Given the description of an element on the screen output the (x, y) to click on. 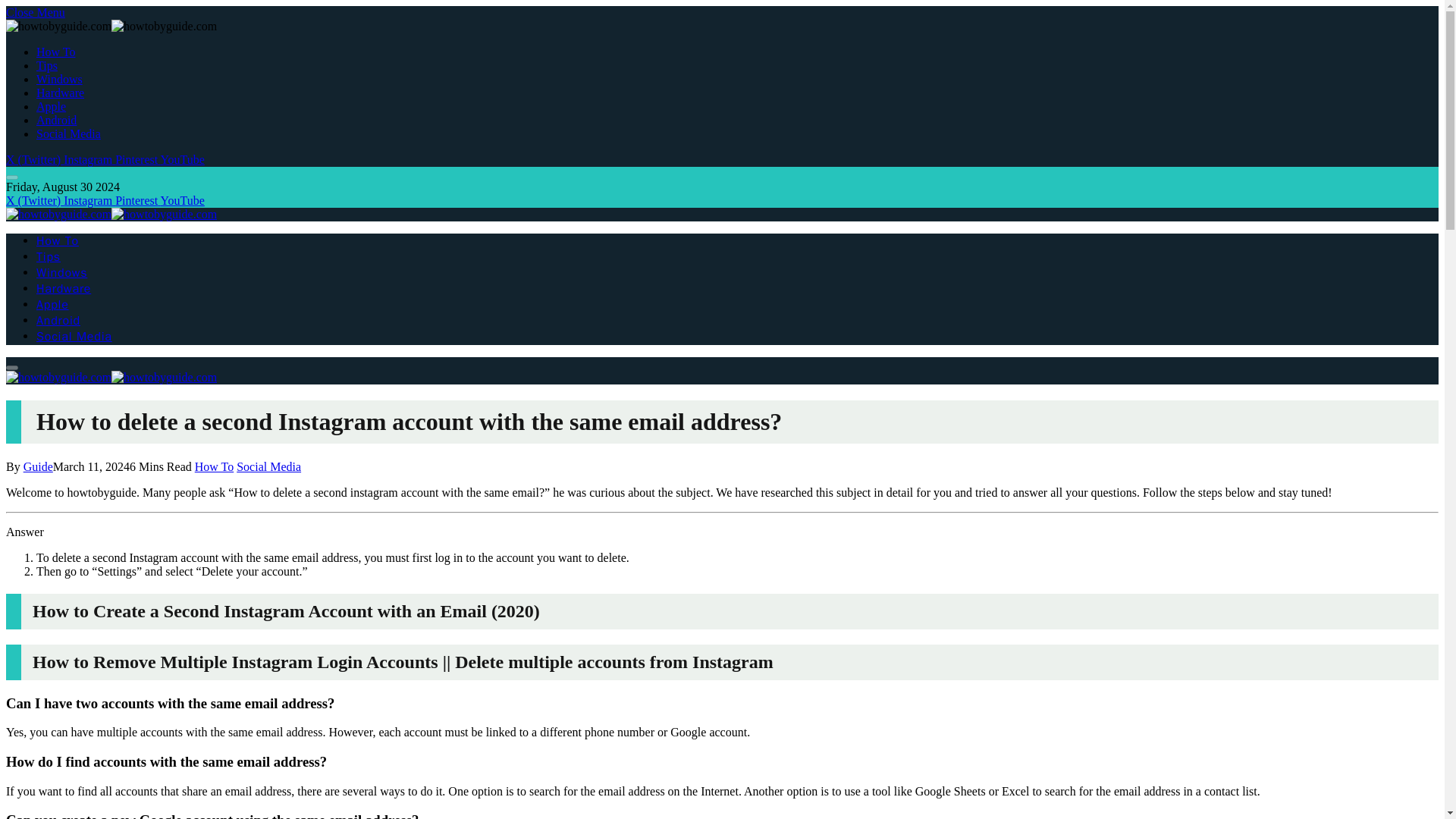
Windows (59, 78)
Hardware (63, 288)
Apple (50, 106)
Close Menu (35, 11)
Pinterest (137, 159)
Posts by Guide (37, 466)
howtobyguide.com (110, 377)
Social Media (74, 336)
Windows (61, 272)
Hardware (60, 92)
